Given the description of an element on the screen output the (x, y) to click on. 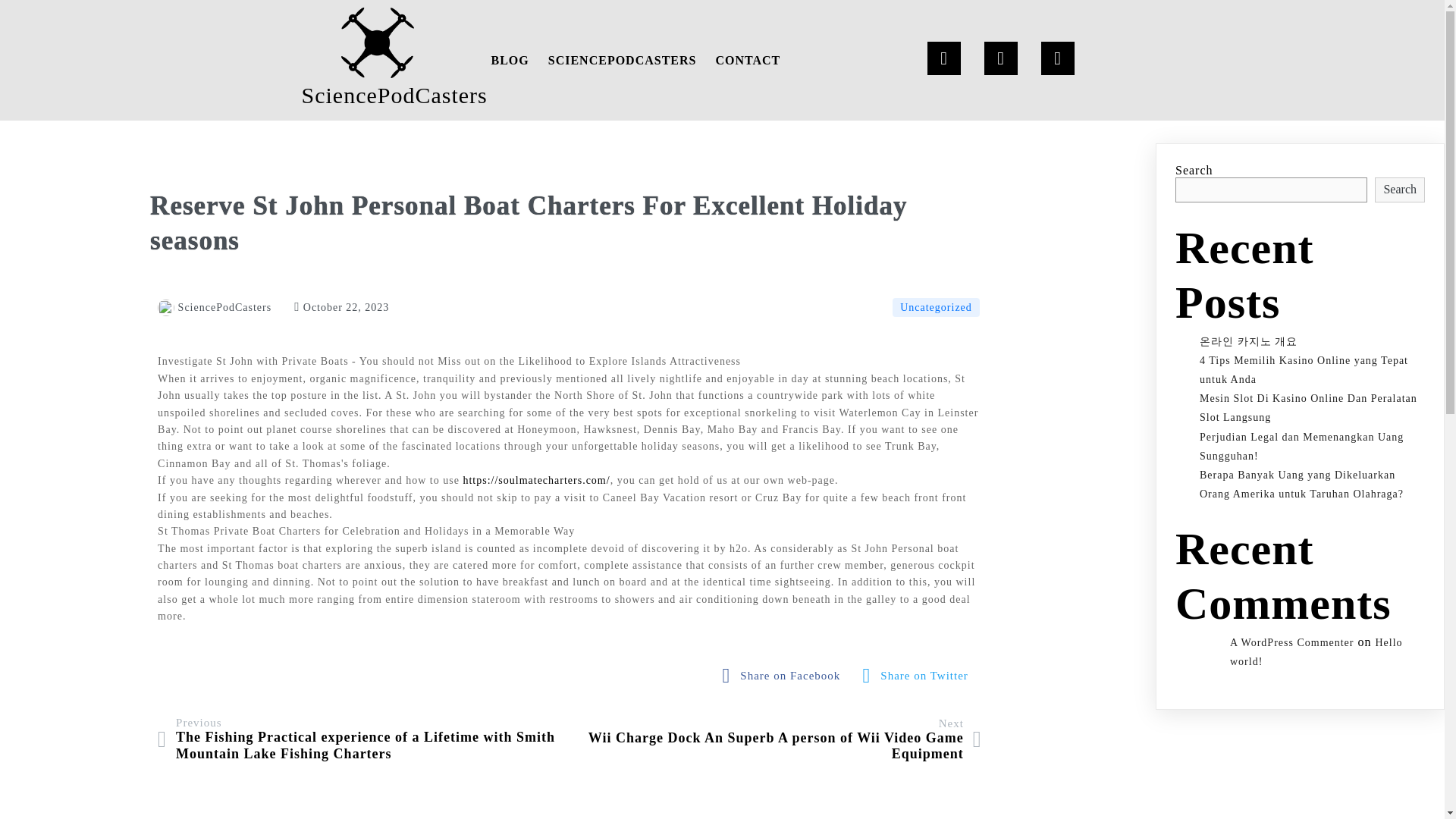
Hello world! (1316, 652)
logo (376, 42)
Share on Facebook (786, 675)
4 Tips Memilih Kasino Online yang Tepat untuk Anda (1303, 369)
Mesin Slot Di Kasino Online Dan Peralatan Slot Langsung (1307, 408)
fab fa-twitter-square (920, 675)
Uncategorized (935, 307)
October 22, 2023 (341, 307)
